Given the description of an element on the screen output the (x, y) to click on. 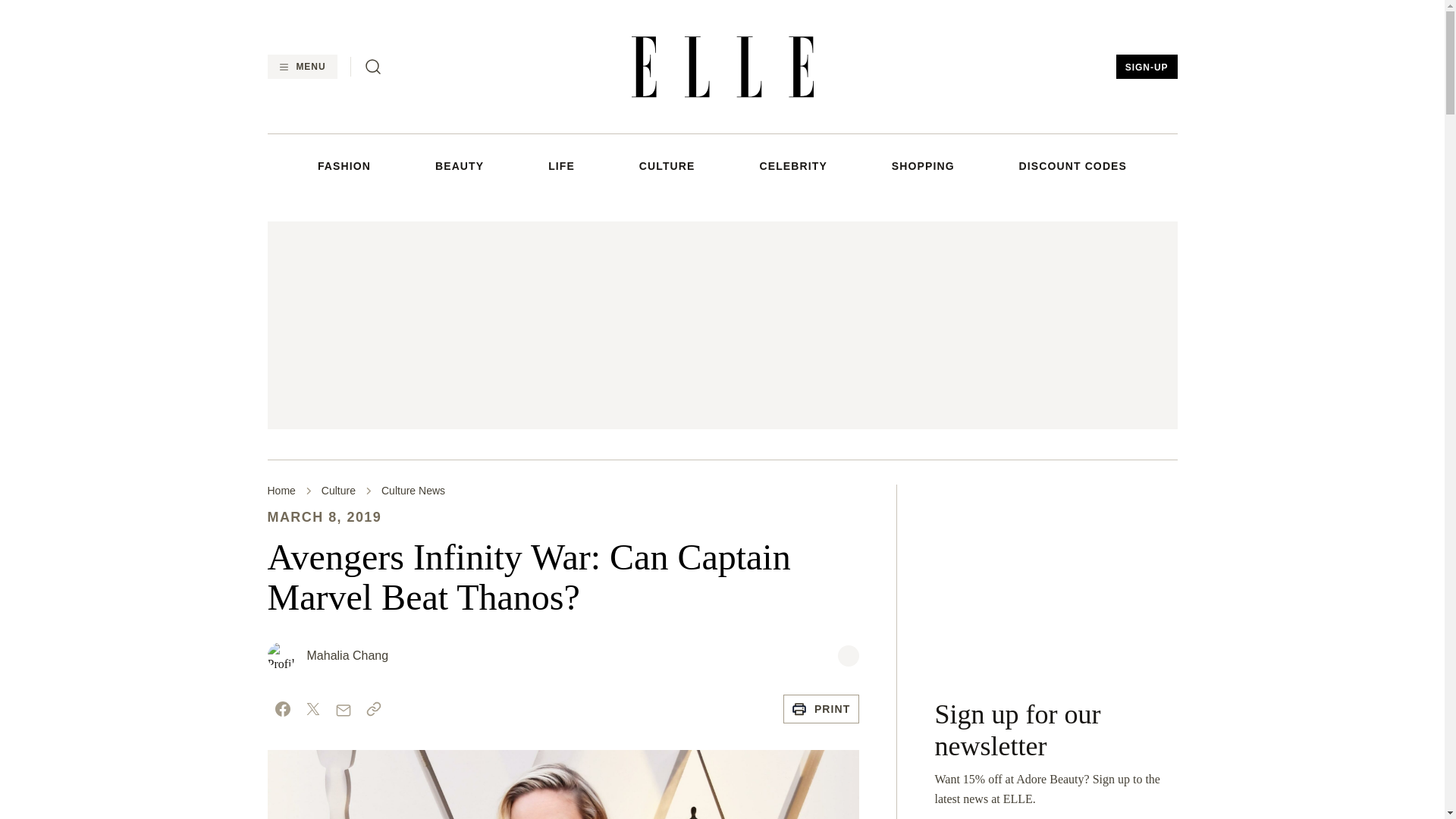
FASHION (344, 165)
MENU (301, 66)
BEAUTY (459, 165)
CELEBRITY (792, 165)
LIFE (561, 165)
SHOPPING (923, 165)
SIGN-UP (1146, 66)
DISCOUNT CODES (1072, 165)
CULTURE (667, 165)
